Given the description of an element on the screen output the (x, y) to click on. 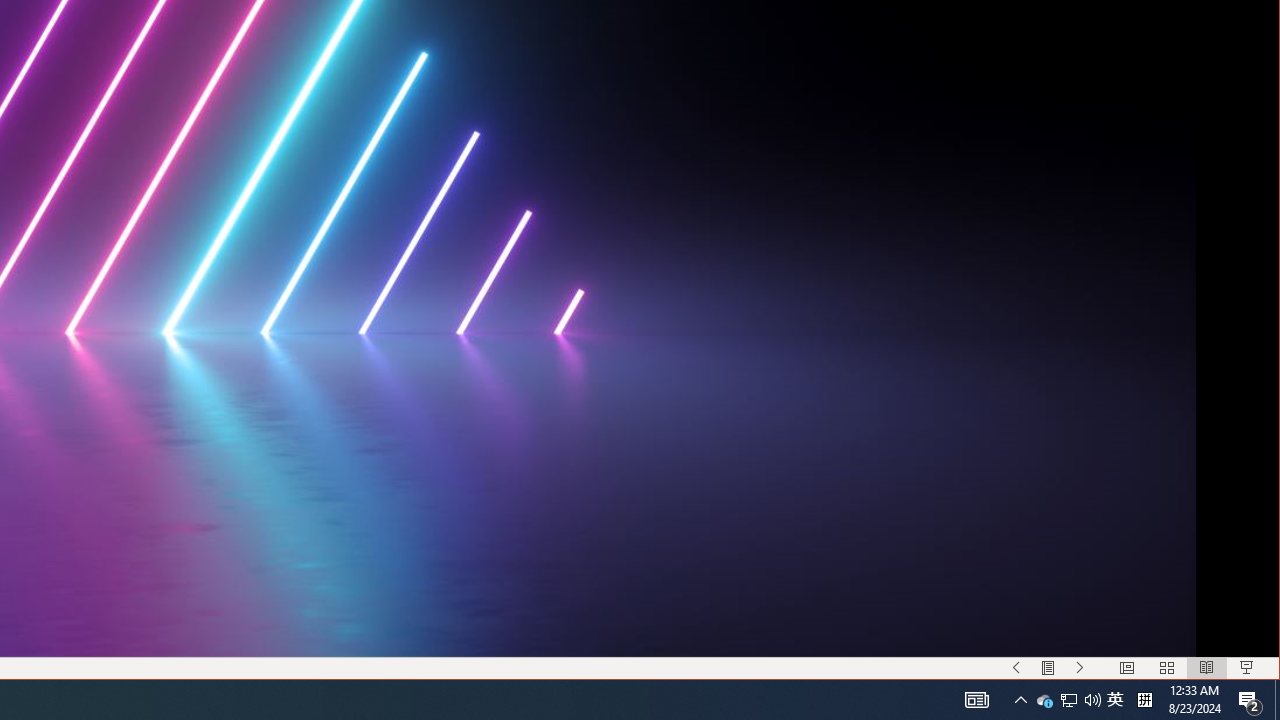
Slide Show Next On (1080, 668)
